Given the description of an element on the screen output the (x, y) to click on. 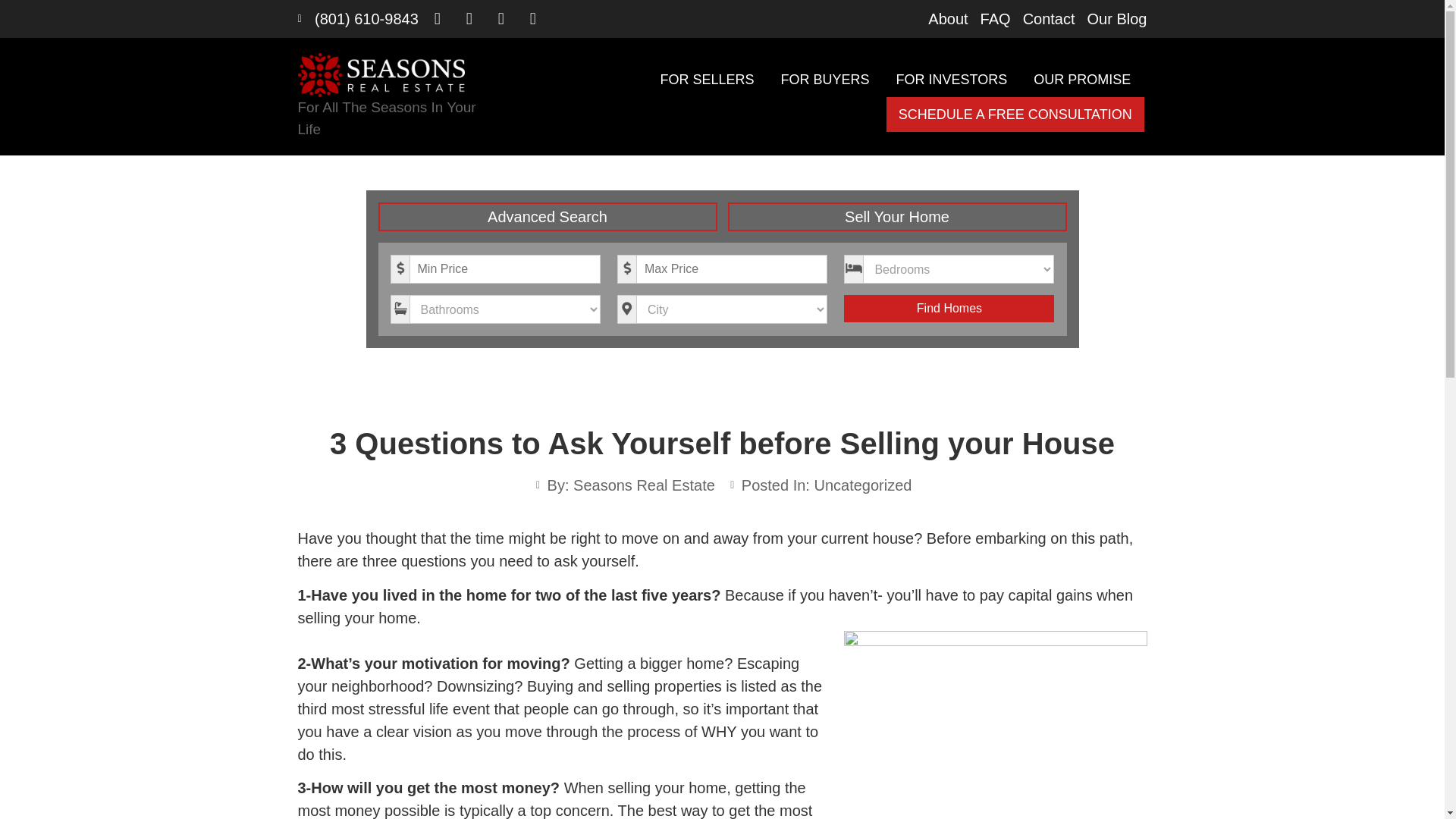
Sell Your Home (897, 216)
FOR BUYERS (824, 79)
By: Seasons Real Estate (623, 485)
Uncategorized (862, 484)
Find Homes (949, 308)
Our Blog (1117, 18)
FOR INVESTORS (951, 79)
About (948, 18)
FOR SELLERS (706, 79)
OUR PROMISE (1082, 79)
SCHEDULE A FREE CONSULTATION (1015, 114)
Advanced Search (546, 216)
FAQ (994, 18)
Contact (1049, 18)
